Given the description of an element on the screen output the (x, y) to click on. 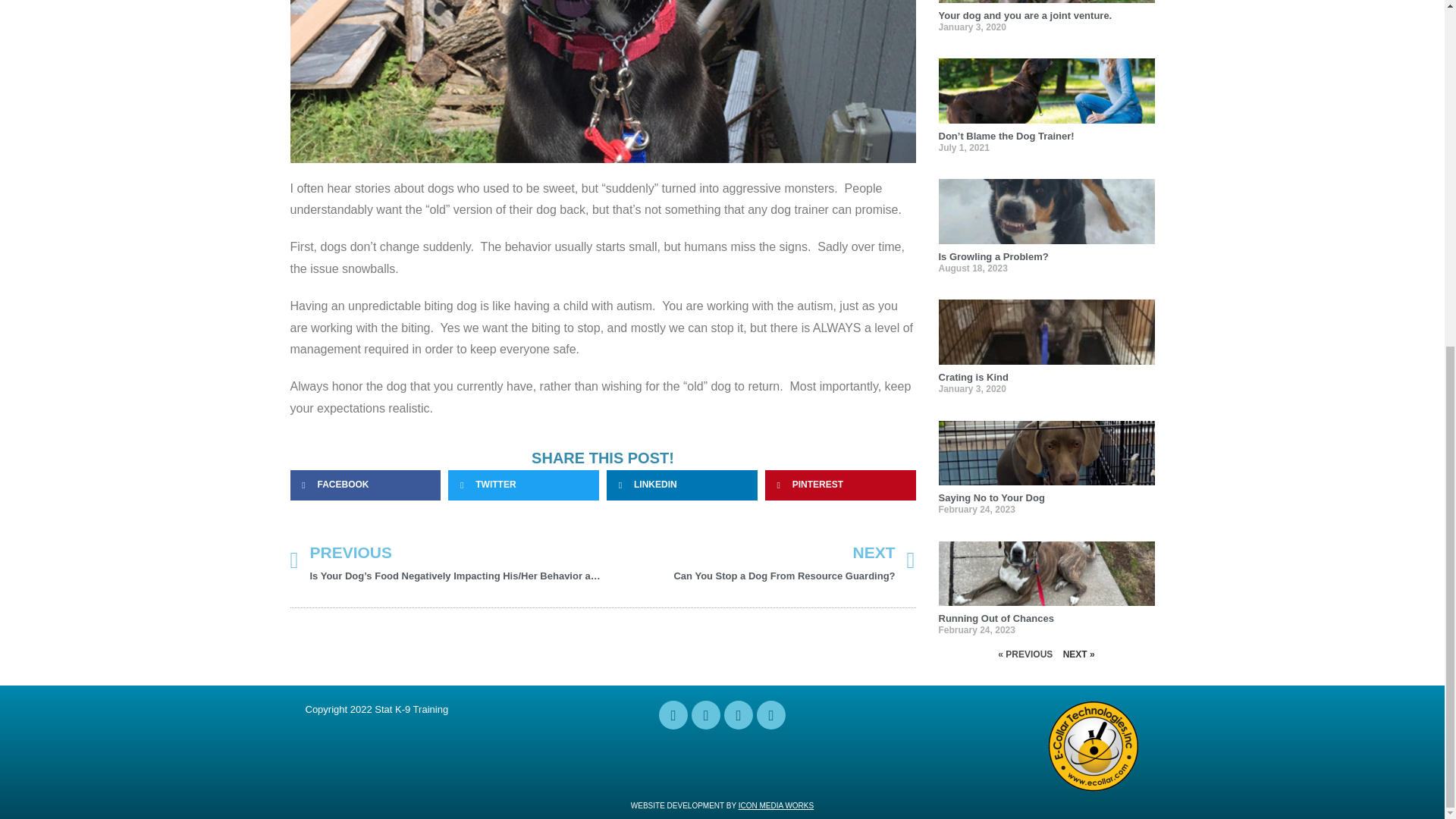
ecollar logo (758, 561)
Your dog and you are a joint venture. (1093, 746)
